Given the description of an element on the screen output the (x, y) to click on. 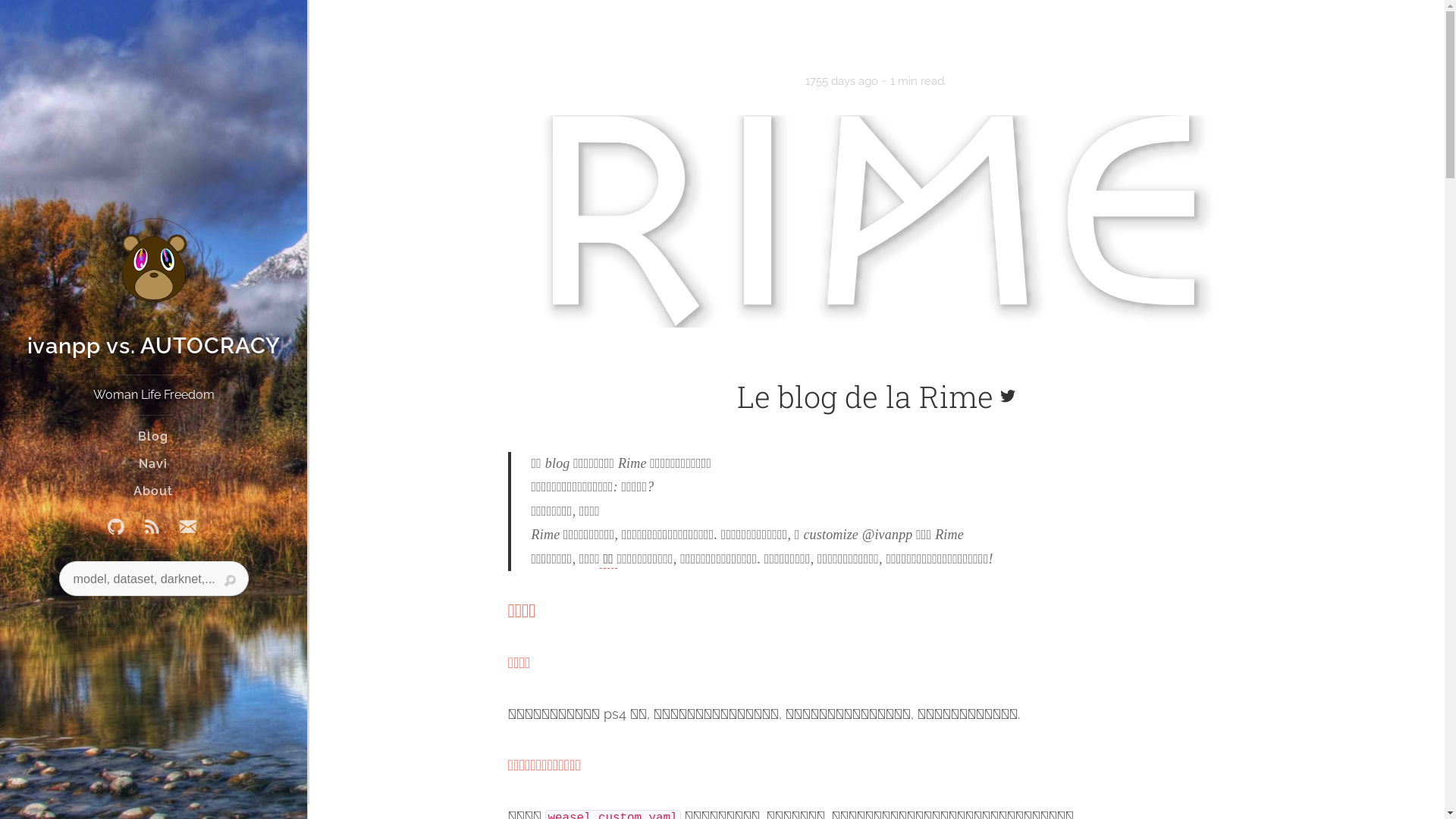
ivanpp vs. AUTOCRACY Element type: text (153, 313)
About Element type: text (153, 491)
send me an e-mail Element type: hover (187, 526)
Blog Element type: text (153, 436)
Le blog de la Rime Element type: text (876, 365)
Subscribe to RSS Element type: hover (152, 526)
Navi Element type: text (153, 463)
ivanpp on Github Element type: hover (115, 526)
